Given the description of an element on the screen output the (x, y) to click on. 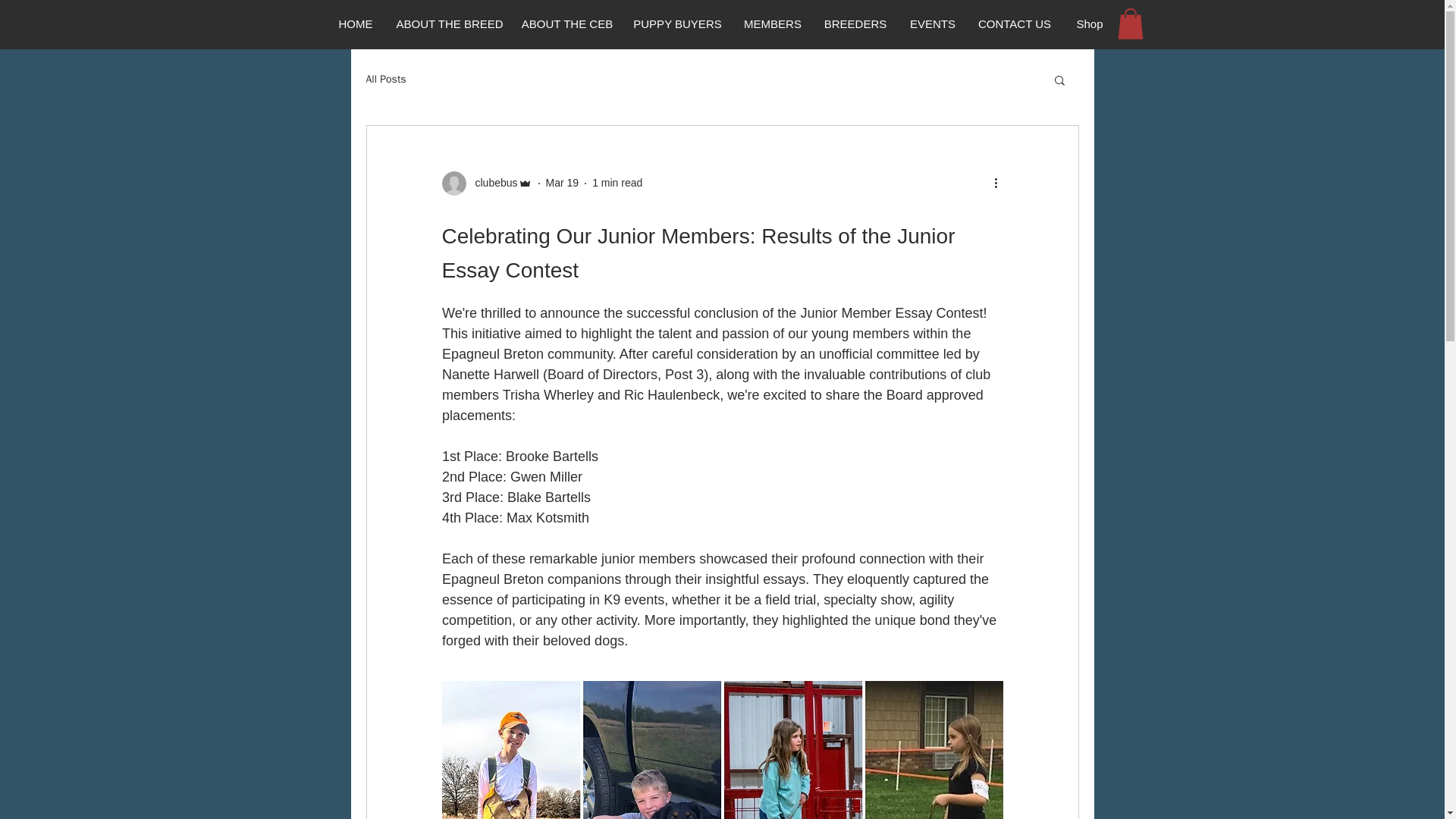
PUPPY BUYERS (677, 24)
1 min read (617, 182)
BREEDERS (854, 24)
ABOUT THE CEB (567, 24)
HOME (354, 24)
Mar 19 (562, 182)
clubebus (490, 182)
MEMBERS (772, 24)
ABOUT THE BREED (449, 24)
